Given the description of an element on the screen output the (x, y) to click on. 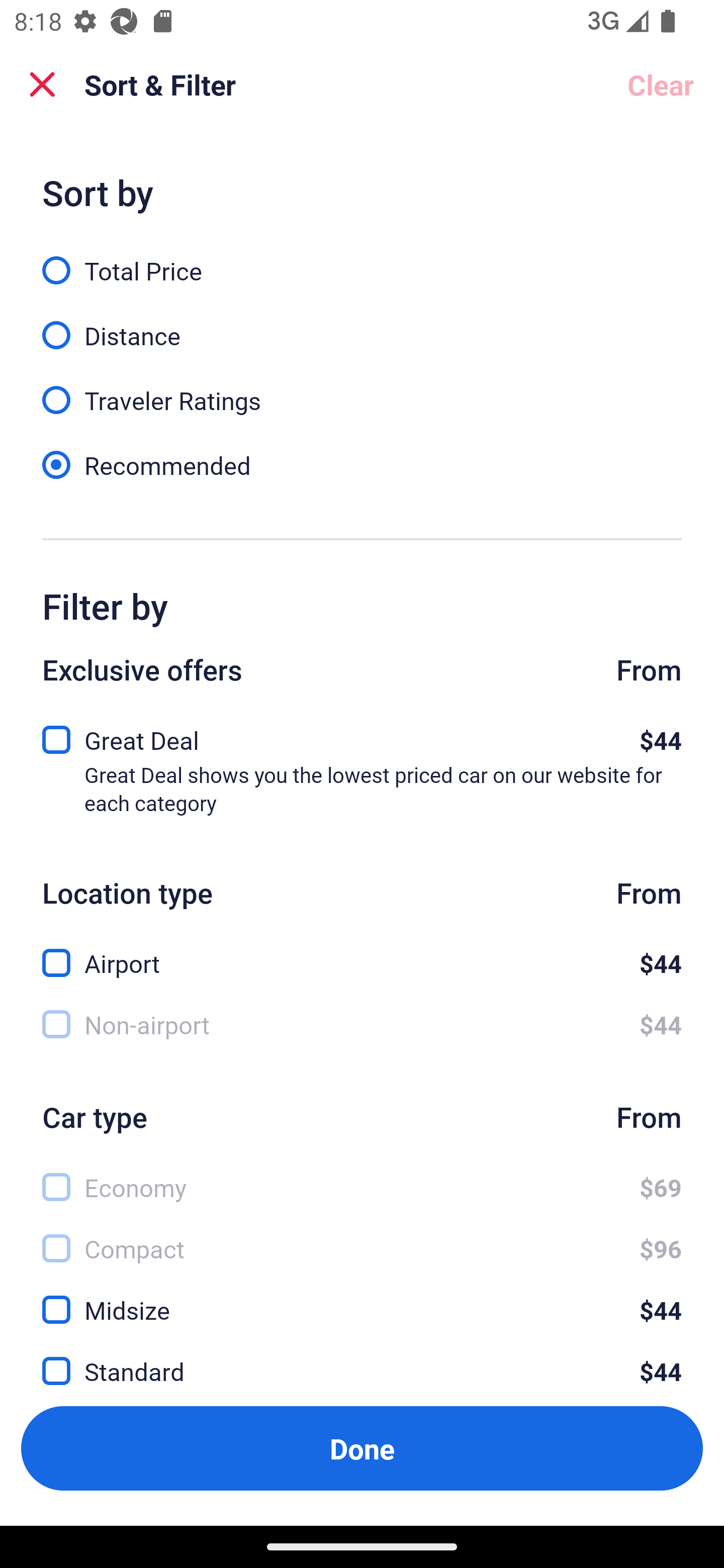
Close Sort and Filter (42, 84)
Clear (660, 84)
Total Price (361, 259)
Distance (361, 324)
Traveler Ratings (361, 389)
Airport, $44 Airport $44 (361, 952)
Non-airport, $44 Non-airport $44 (361, 1024)
Economy, $69 Economy $69 (361, 1175)
Compact, $96 Compact $96 (361, 1237)
Midsize, $44 Midsize $44 (361, 1298)
Standard, $44 Standard $44 (361, 1359)
Apply and close Sort and Filter Done (361, 1448)
